Given the description of an element on the screen output the (x, y) to click on. 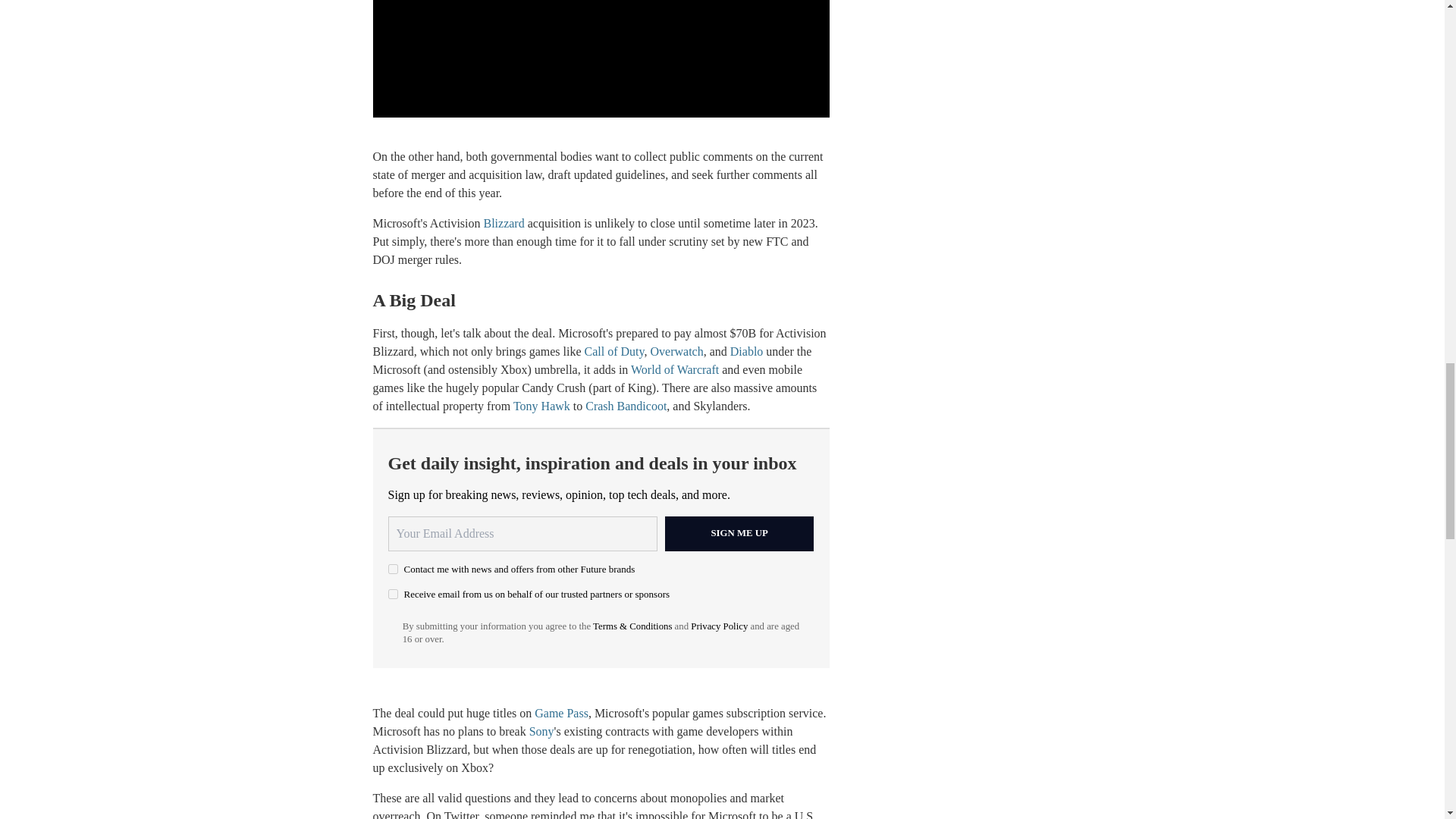
Sign me up (739, 533)
on (392, 593)
on (392, 569)
